Given the description of an element on the screen output the (x, y) to click on. 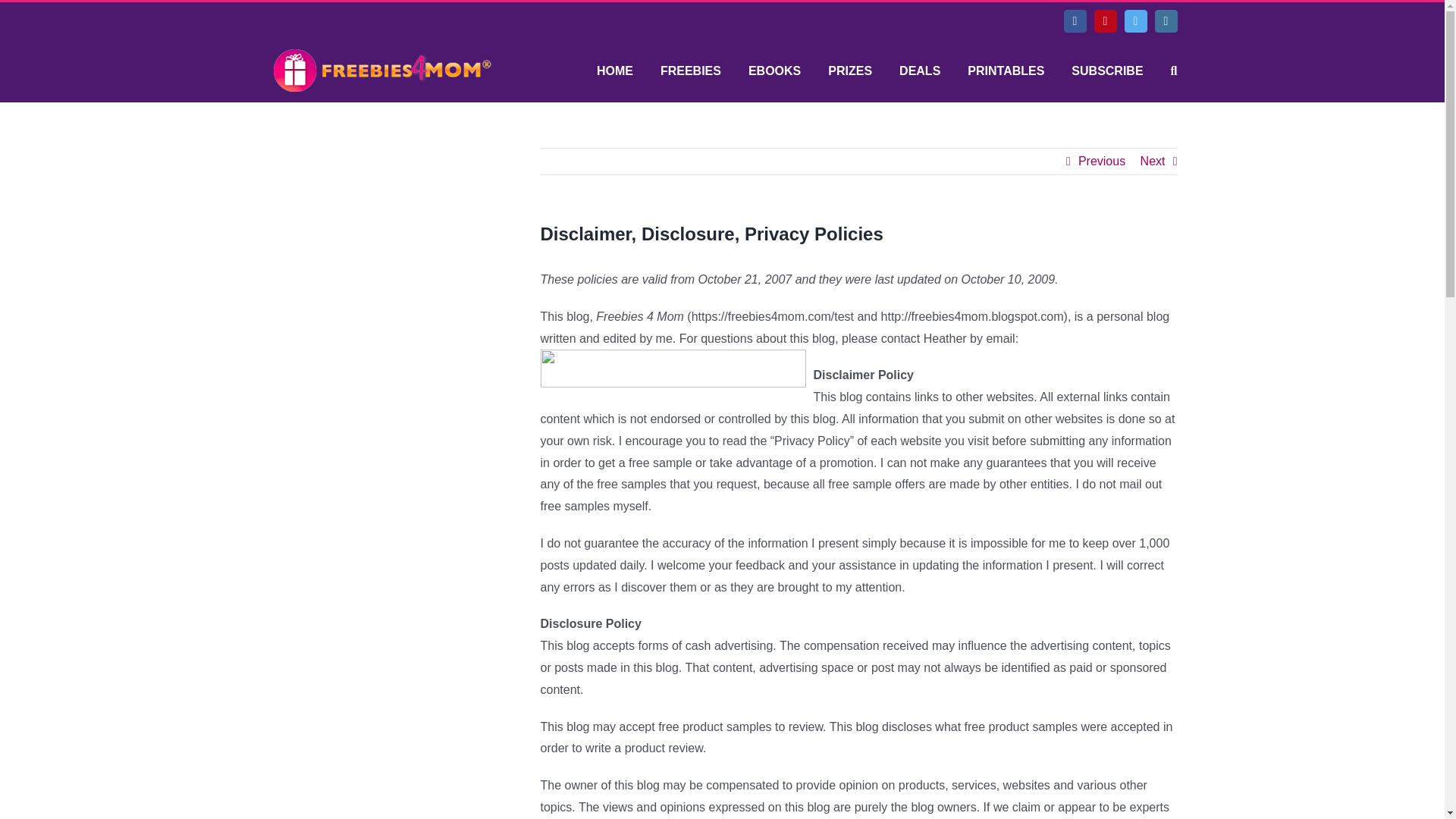
PRINTABLES (1005, 70)
Search (1173, 70)
Facebook (1074, 20)
Advertisement (380, 242)
Pinterest (1104, 20)
FREEBIES (690, 70)
EBOOKS (774, 70)
HOME (614, 70)
Advertisement (380, 473)
DEALS (919, 70)
PRIZES (850, 70)
Instagram (1165, 20)
Twitter (1135, 20)
